Given the description of an element on the screen output the (x, y) to click on. 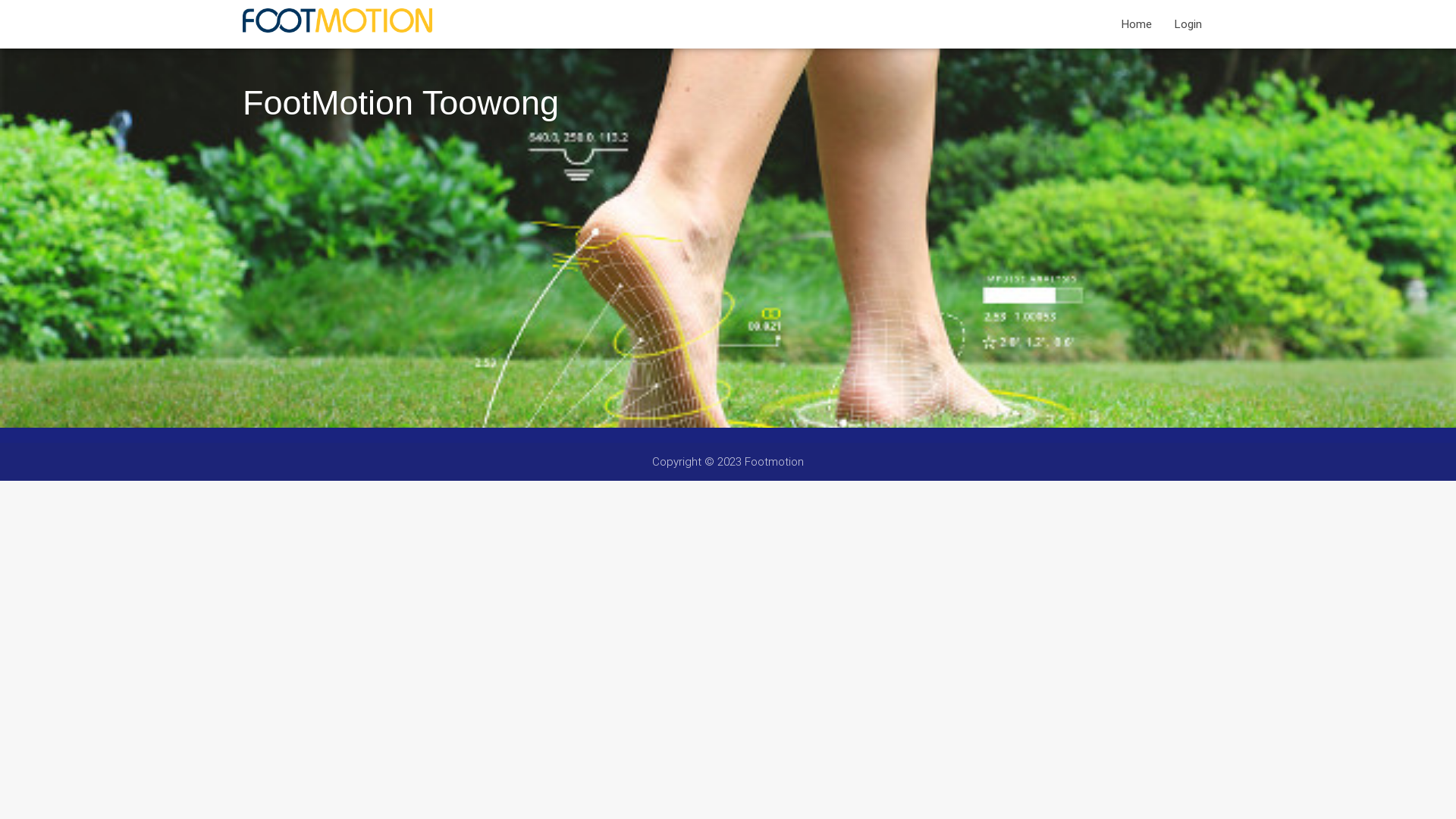
Home Element type: text (1136, 24)
Login Element type: text (1188, 24)
